Given the description of an element on the screen output the (x, y) to click on. 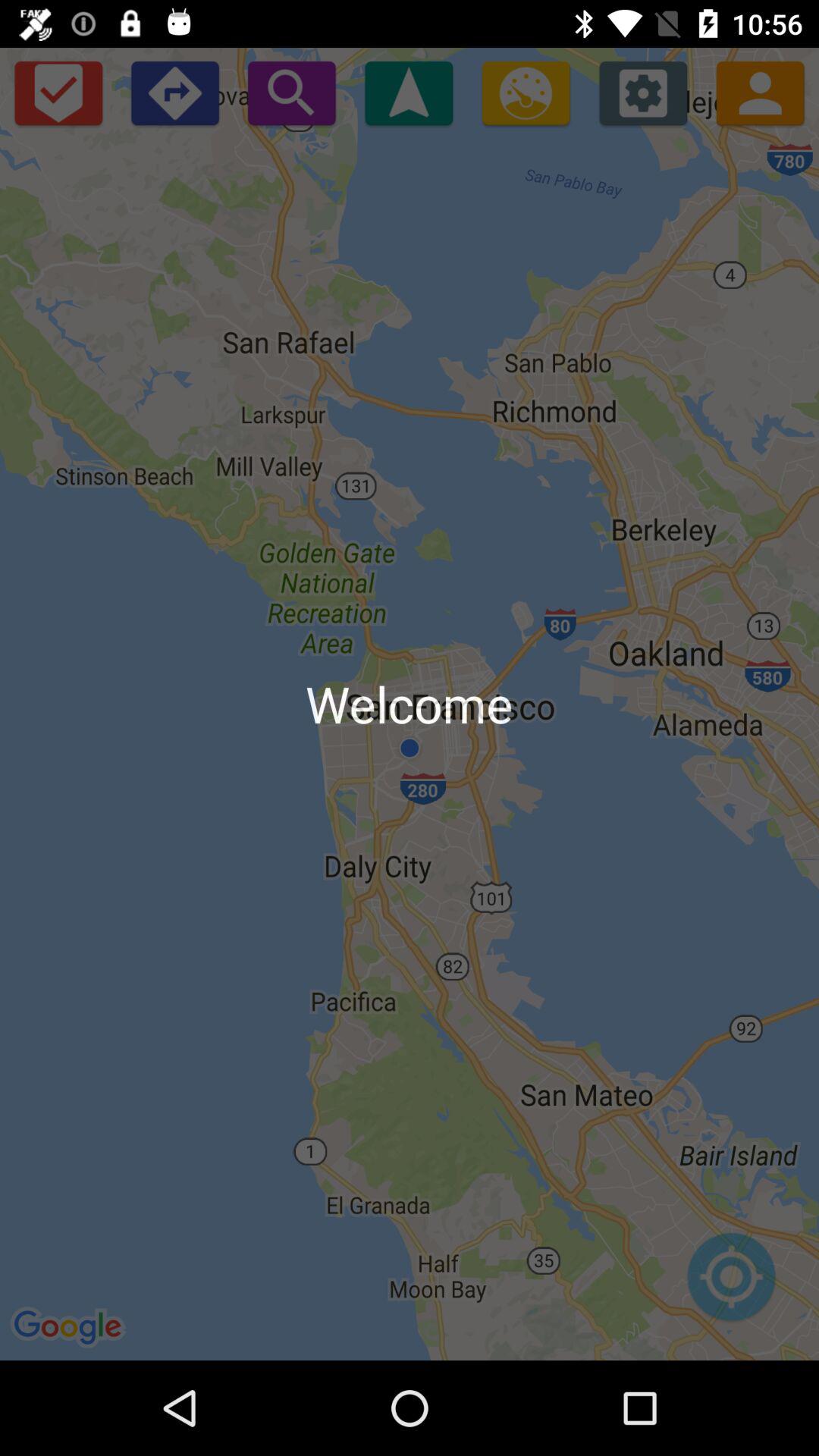
open settings (642, 92)
